Given the description of an element on the screen output the (x, y) to click on. 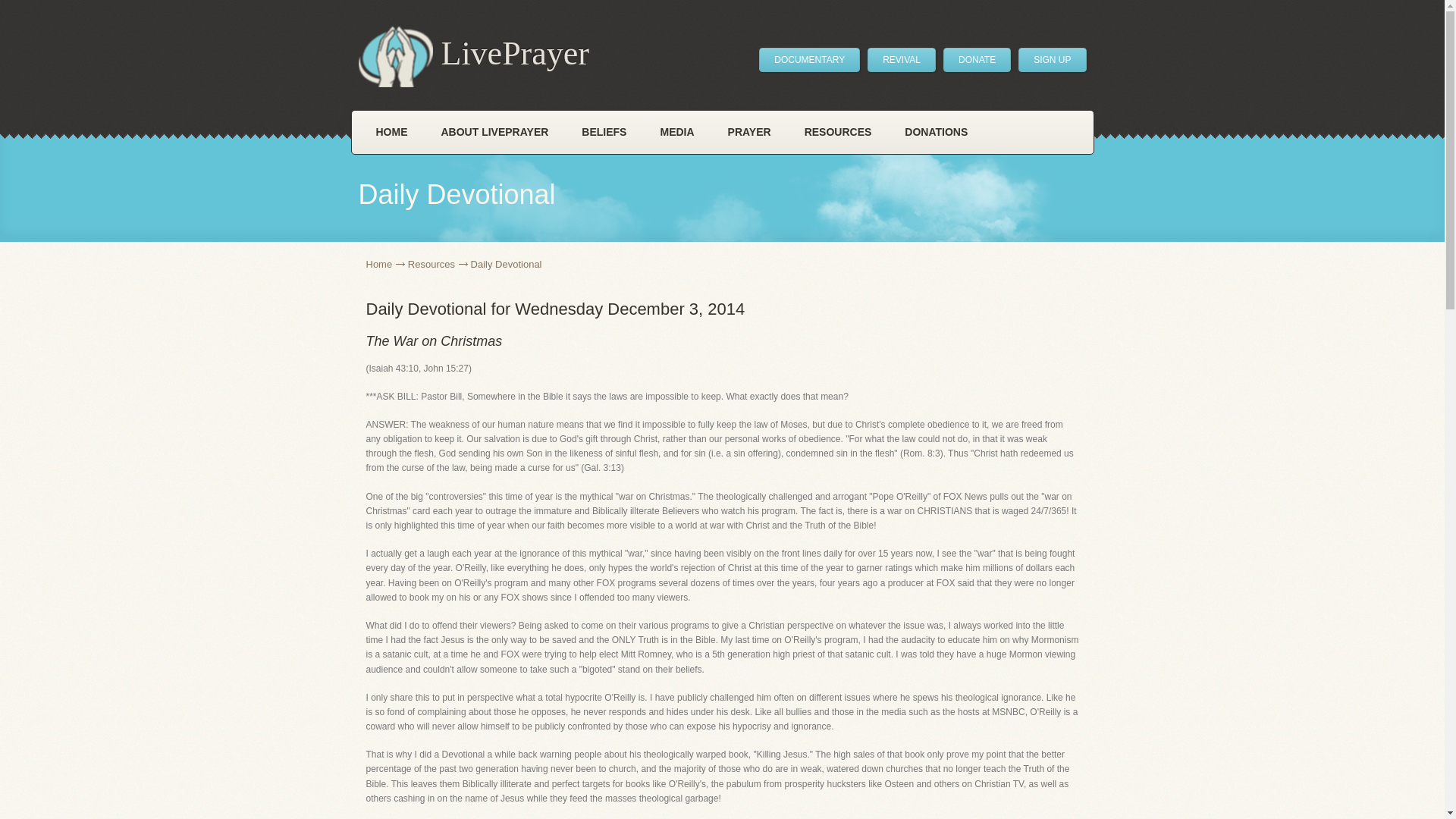
LivePrayer (473, 56)
DOCUMENTARY (809, 59)
Resources (437, 264)
DONATE (976, 59)
SIGN UP (1051, 59)
BELIEFS (603, 131)
HOME (392, 131)
MEDIA (676, 131)
Home (384, 264)
ABOUT LIVEPRAYER (495, 131)
